Given the description of an element on the screen output the (x, y) to click on. 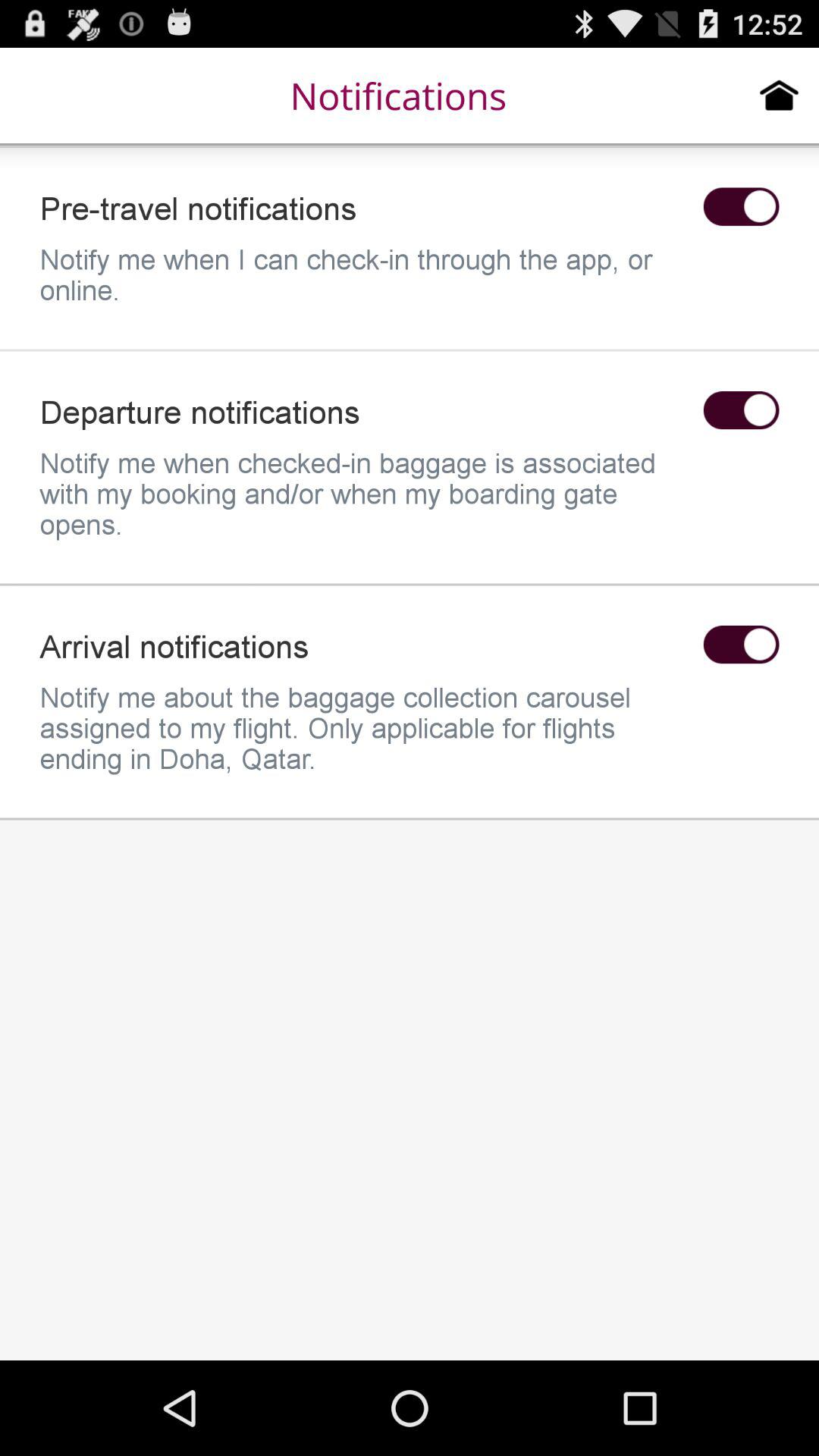
toggle pre-travel notifications (741, 206)
